Given the description of an element on the screen output the (x, y) to click on. 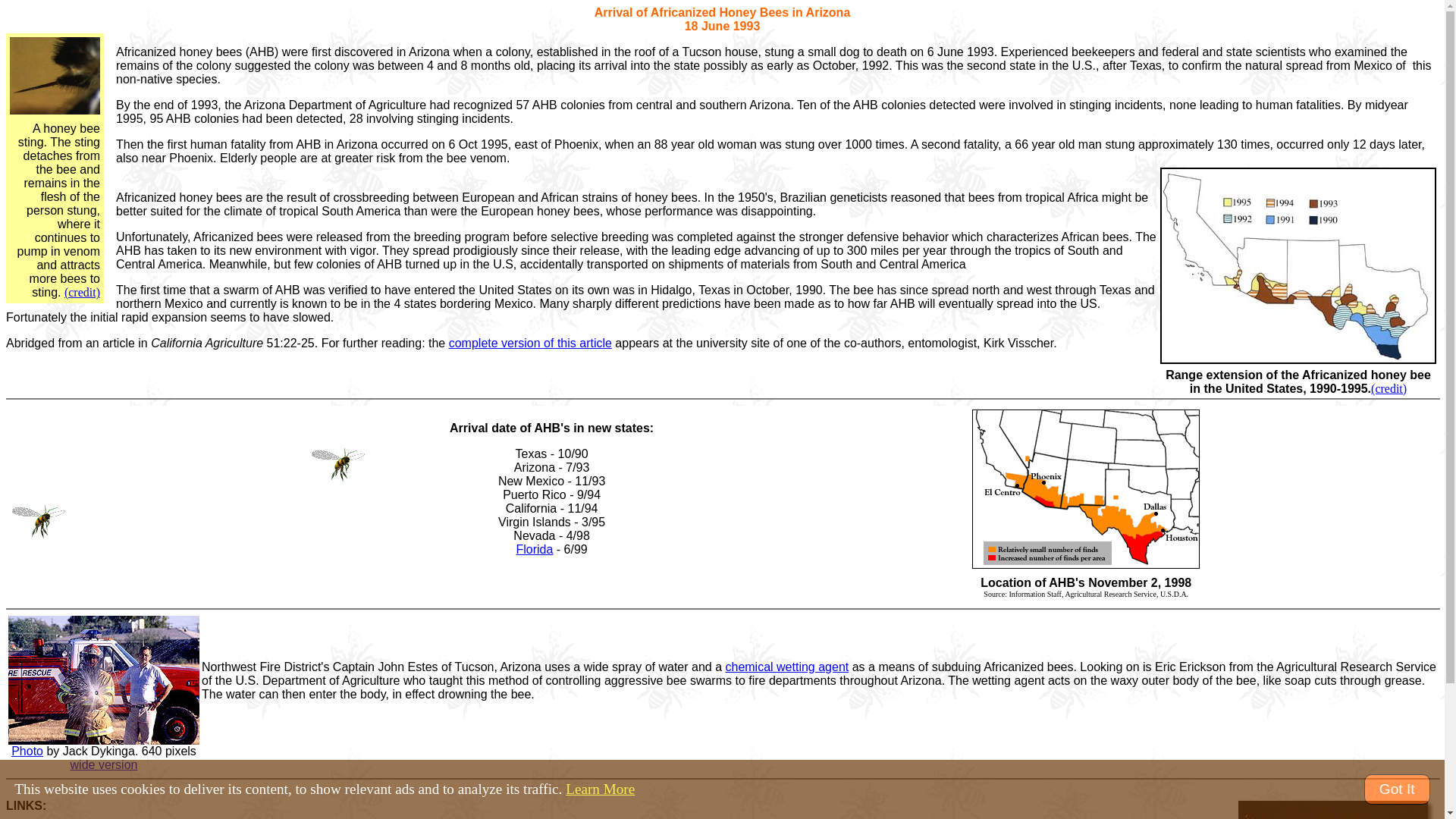
wide version (103, 764)
complete version of this article (529, 342)
Photo (27, 750)
Florida (534, 549)
Got It (1396, 788)
chemical wetting agent (786, 666)
Learn More (600, 788)
Learn More (600, 788)
